Given the description of an element on the screen output the (x, y) to click on. 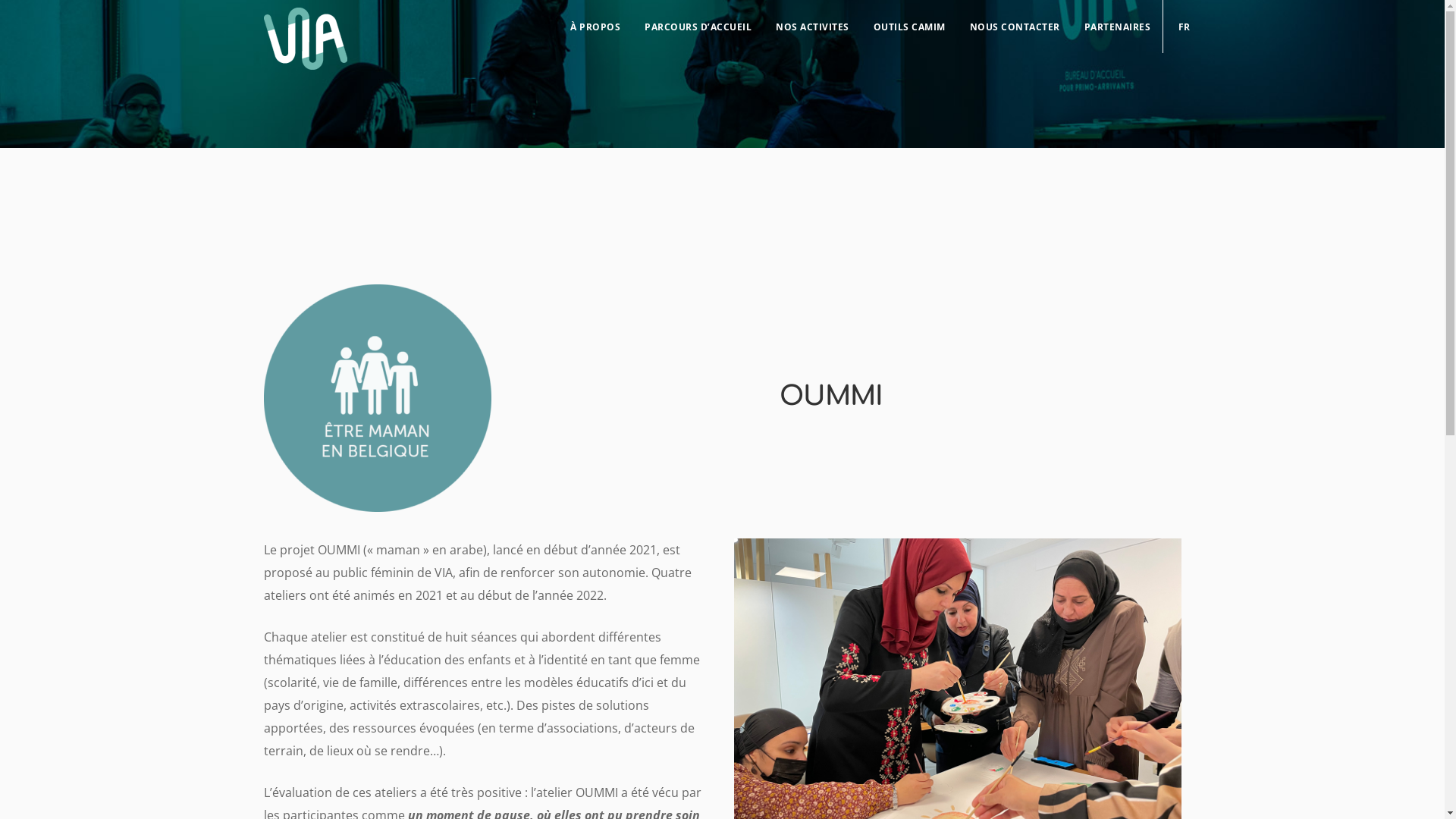
DEMANDE DE MISE EN ATTENTE FOCI Element type: text (338, 499)
NOS HORAIRES Element type: text (294, 445)
CONTACTER VIA Element type: text (519, 445)
OUTILS CAMIM Element type: text (909, 26)
TAVU Element type: text (504, 789)
+32 (0) 2 563 52 52 Element type: text (969, 605)
 FR Element type: text (1176, 26)
PARTENAIRES Element type: text (1117, 26)
NOS ACTIVITES Element type: text (812, 26)
NOUS CONTACTER Element type: text (1014, 26)
DEMANDE DD LANGUES RARES Element type: text (326, 472)
RAPPORT DE TRANSPARENCE 2022 Element type: text (333, 525)
info@via.brussels Element type: text (940, 624)
Une question ? Element type: text (374, 593)
DEMANDE DE MISE EN ATTENTE OL Element type: text (556, 472)
